Given the description of an element on the screen output the (x, y) to click on. 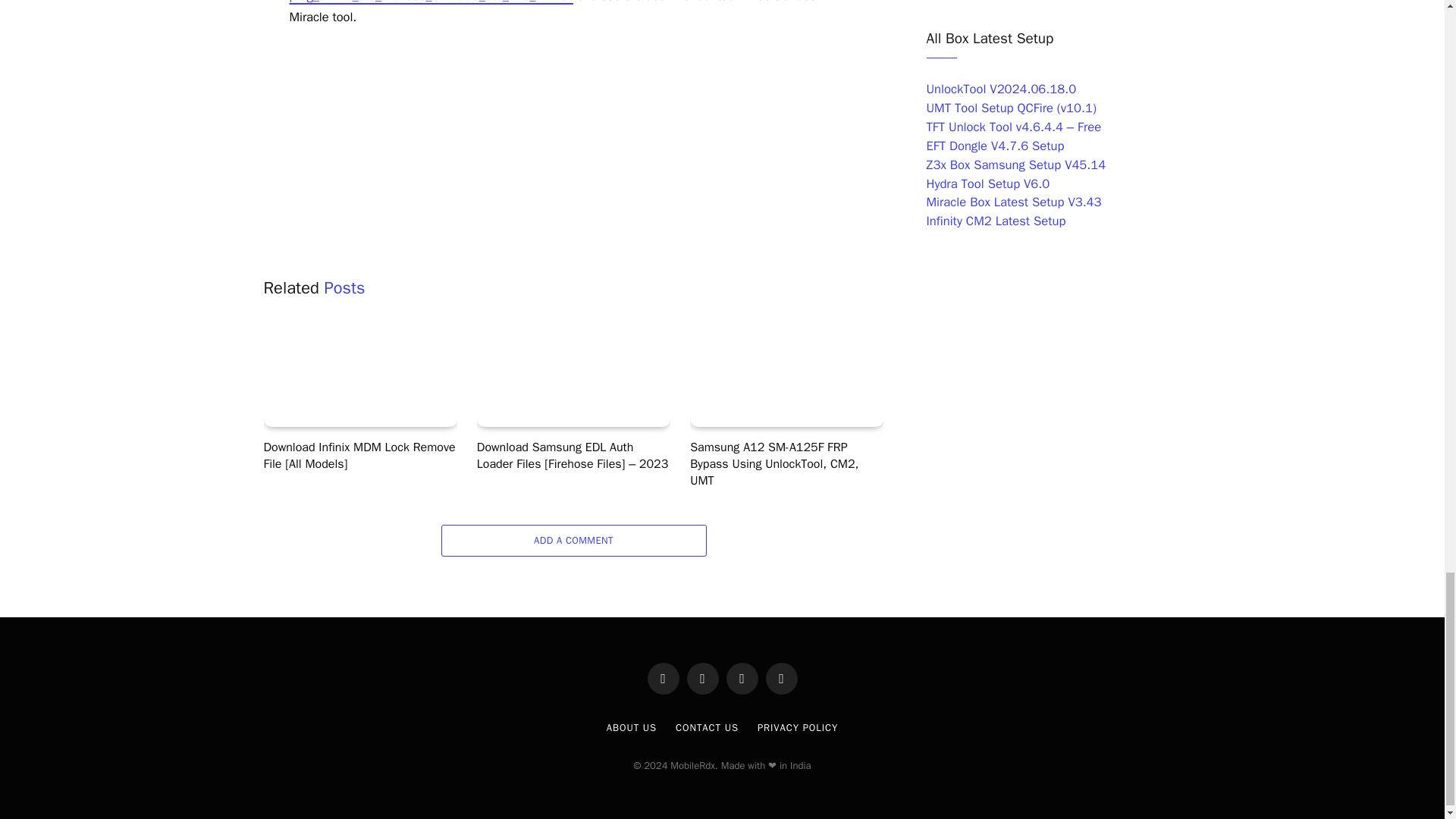
Samsung A12 SM-A125F FRP Bypass Using UnlockTool, CM2, UMT (786, 371)
